Given the description of an element on the screen output the (x, y) to click on. 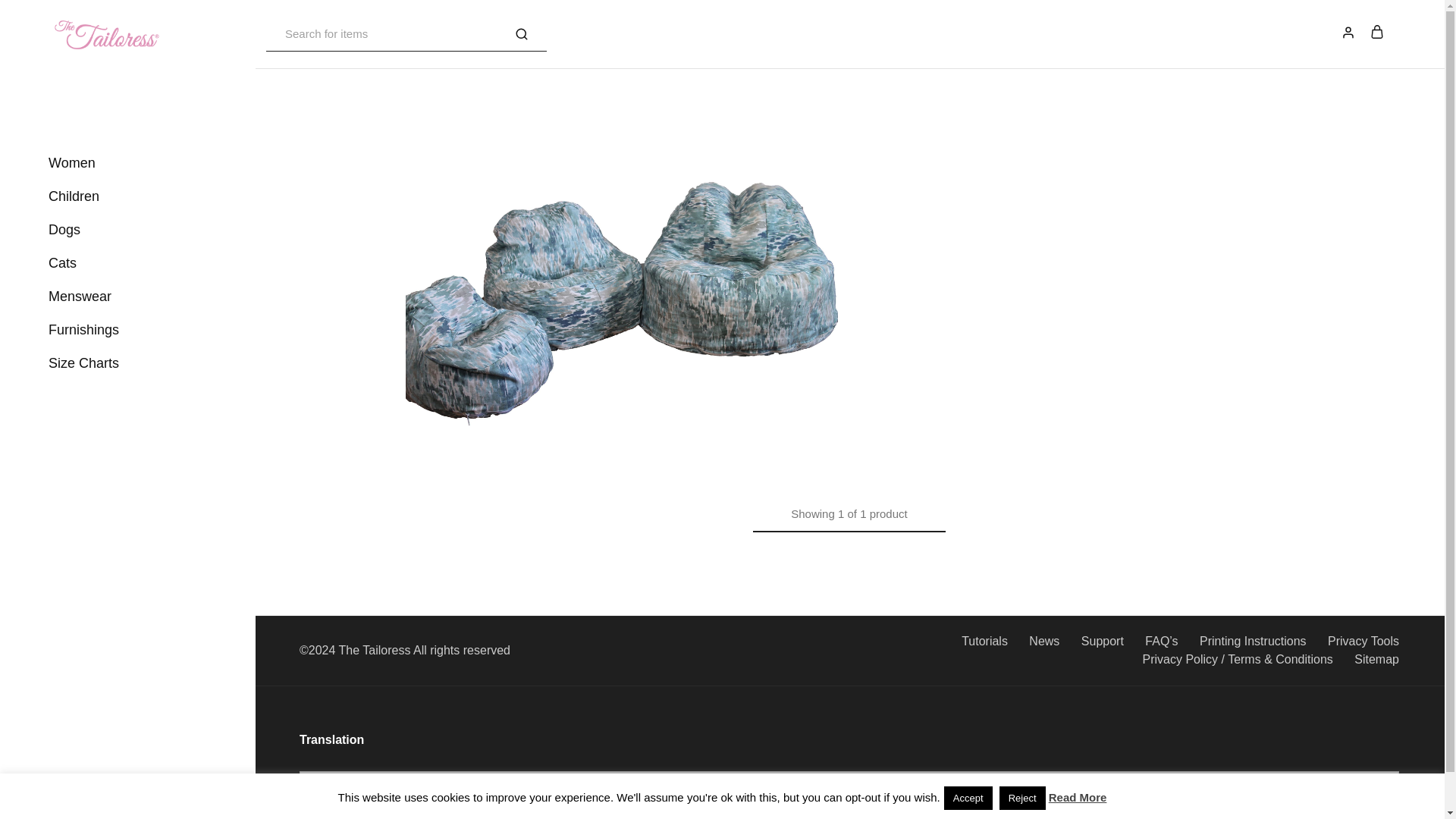
Support (1102, 640)
Privacy Tools (1363, 640)
Furnishings (83, 330)
Tutorials (983, 640)
News (1044, 640)
Women (71, 162)
Size Charts (83, 362)
Accept (967, 797)
Reject (1021, 797)
